Given the description of an element on the screen output the (x, y) to click on. 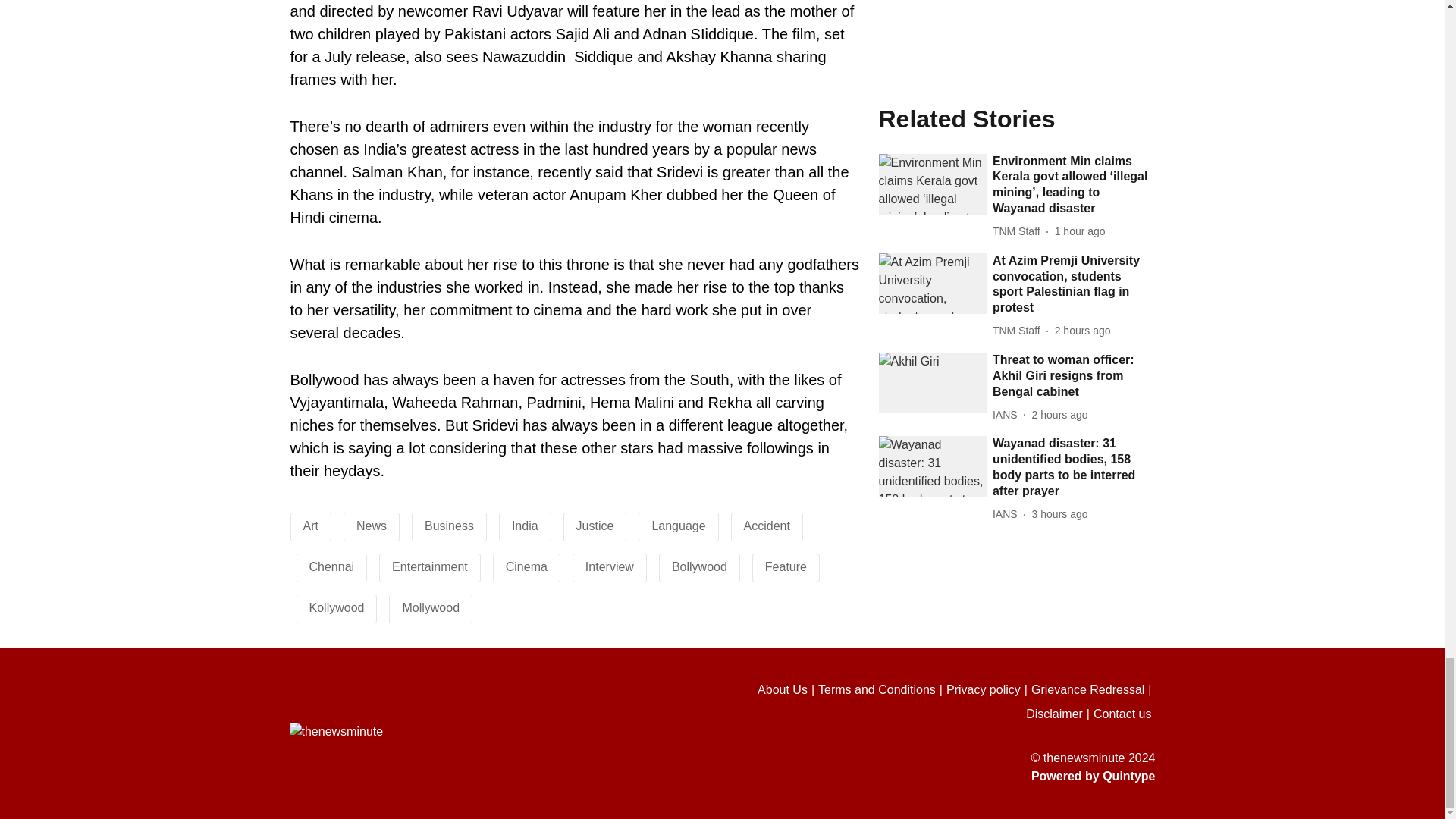
Art (310, 525)
Justice (595, 525)
Kollywood (336, 607)
Bollywood (698, 566)
Mollywood (430, 607)
Accident (767, 525)
Chennai (331, 566)
Business (449, 525)
News (371, 525)
Feature (785, 566)
Cinema (526, 566)
Language (677, 525)
Interview (609, 566)
India (525, 525)
Entertainment (429, 566)
